Given the description of an element on the screen output the (x, y) to click on. 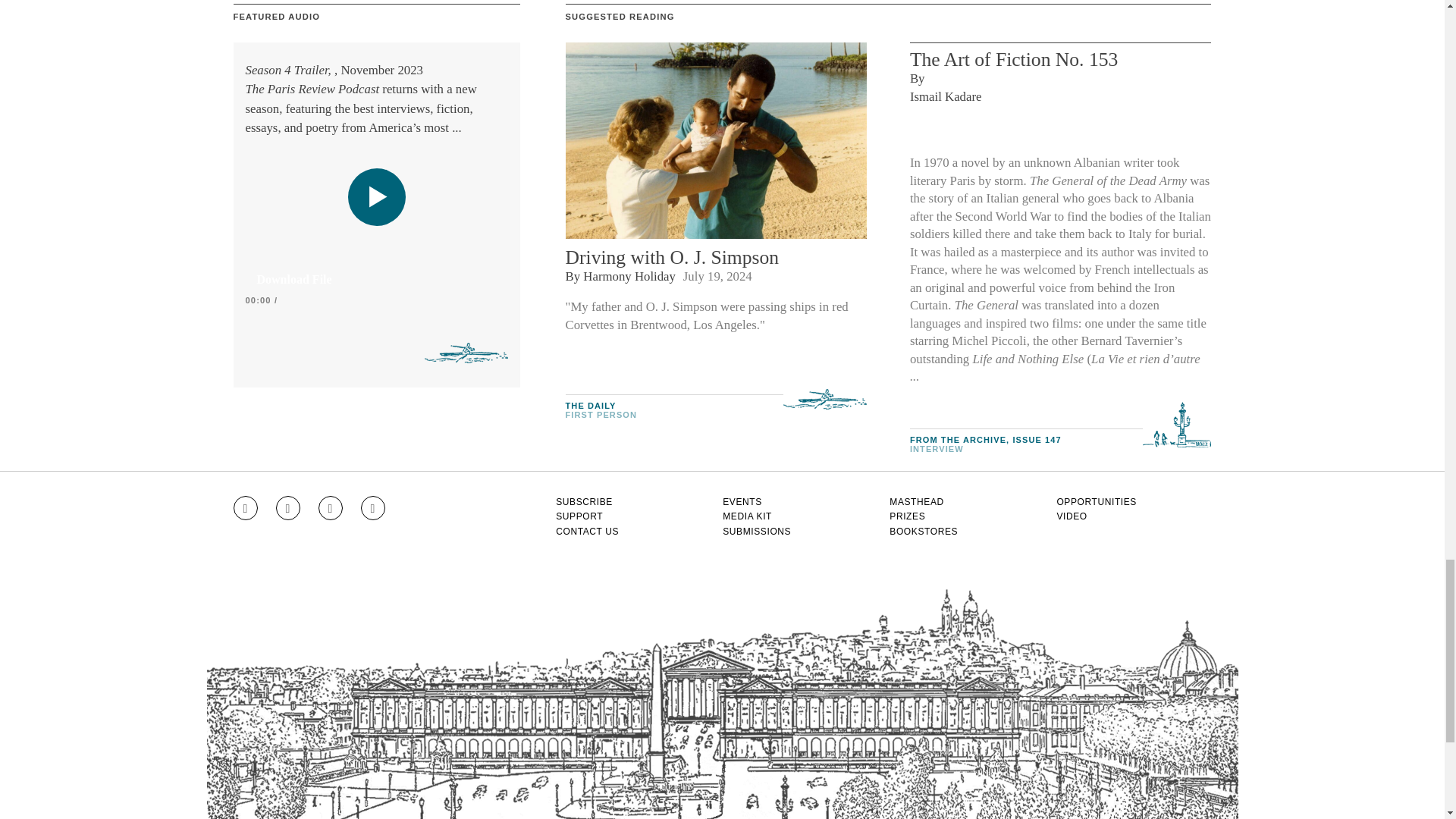
Go to Twitter feed (330, 508)
Go to Instagram feed (244, 508)
Go to Facebook page (287, 508)
Go to RSS feed (373, 508)
